Given the description of an element on the screen output the (x, y) to click on. 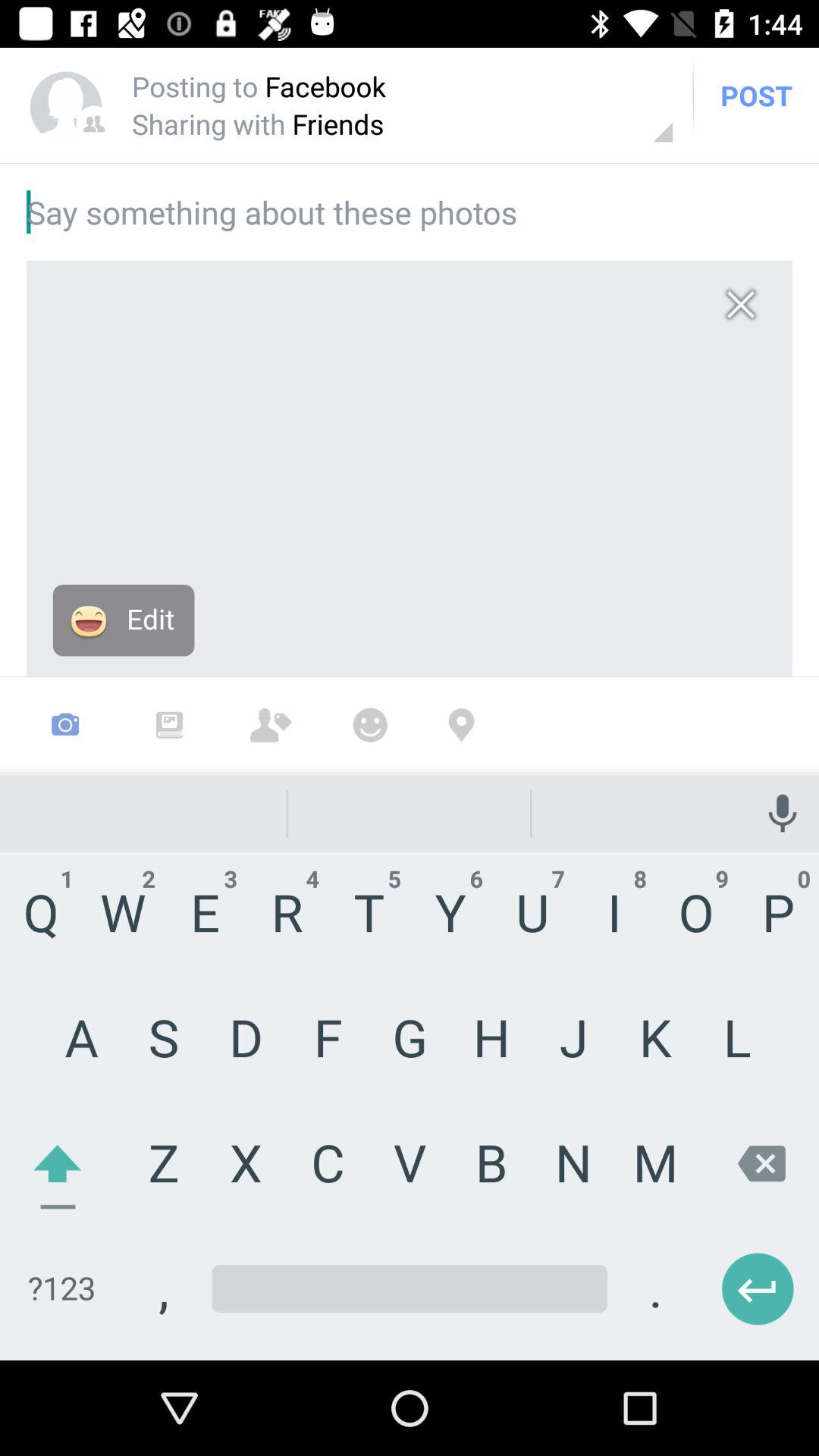
click on the post on top right (771, 103)
click on the audio icon (780, 768)
